Given the description of an element on the screen output the (x, y) to click on. 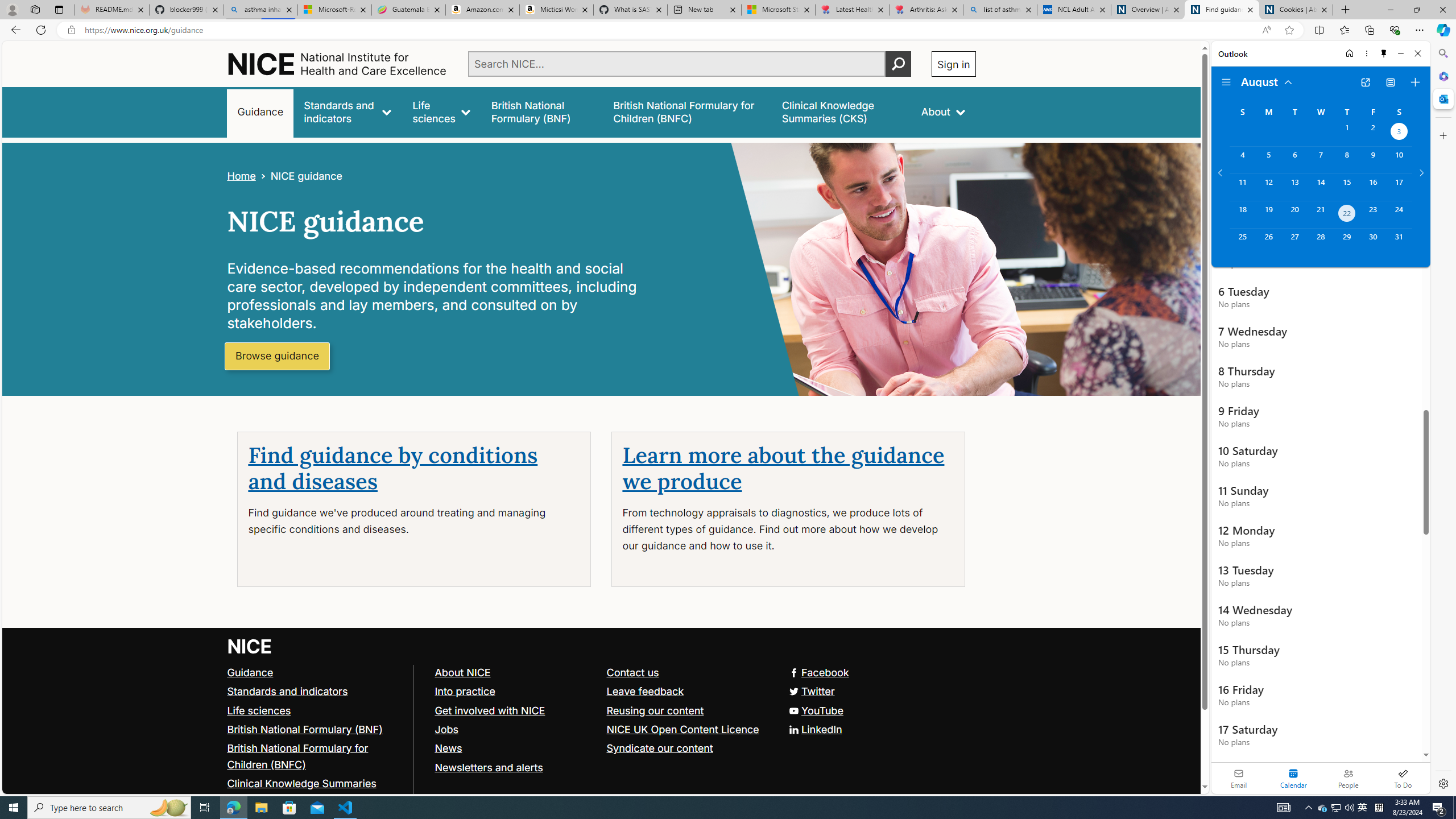
list of asthma inhalers uk - Search (1000, 9)
About NICE (514, 672)
Selected calendar module. Date today is 22 (1293, 777)
Life sciences (440, 111)
Friday, August 9, 2024.  (1372, 159)
Twitter (601, 691)
Sunday, August 4, 2024.  (1242, 159)
Saturday, August 24, 2024.  (1399, 214)
Thursday, August 15, 2024.  (1346, 186)
